Given the description of an element on the screen output the (x, y) to click on. 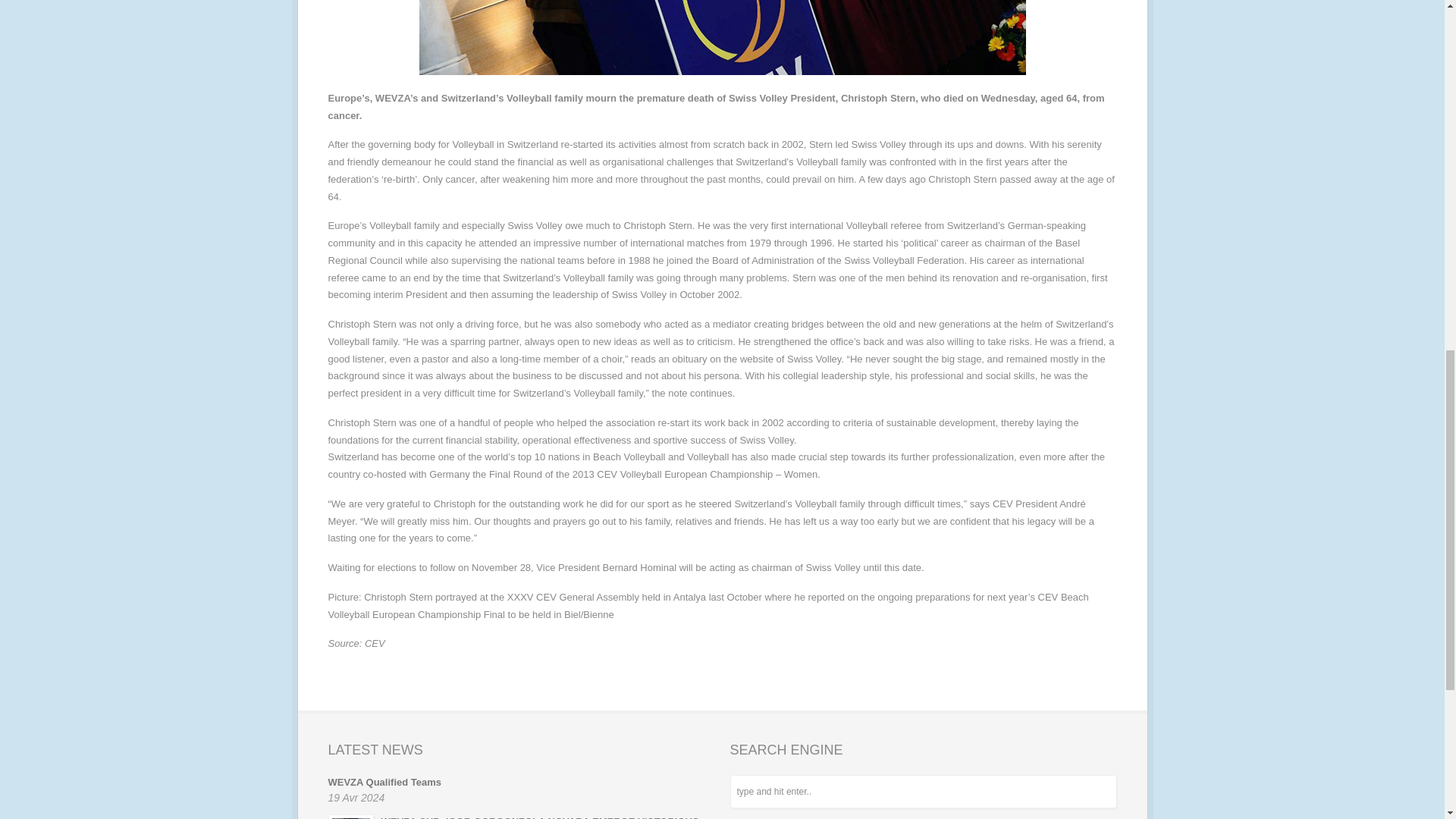
WEVZA Qualified Teams (384, 781)
